Given the description of an element on the screen output the (x, y) to click on. 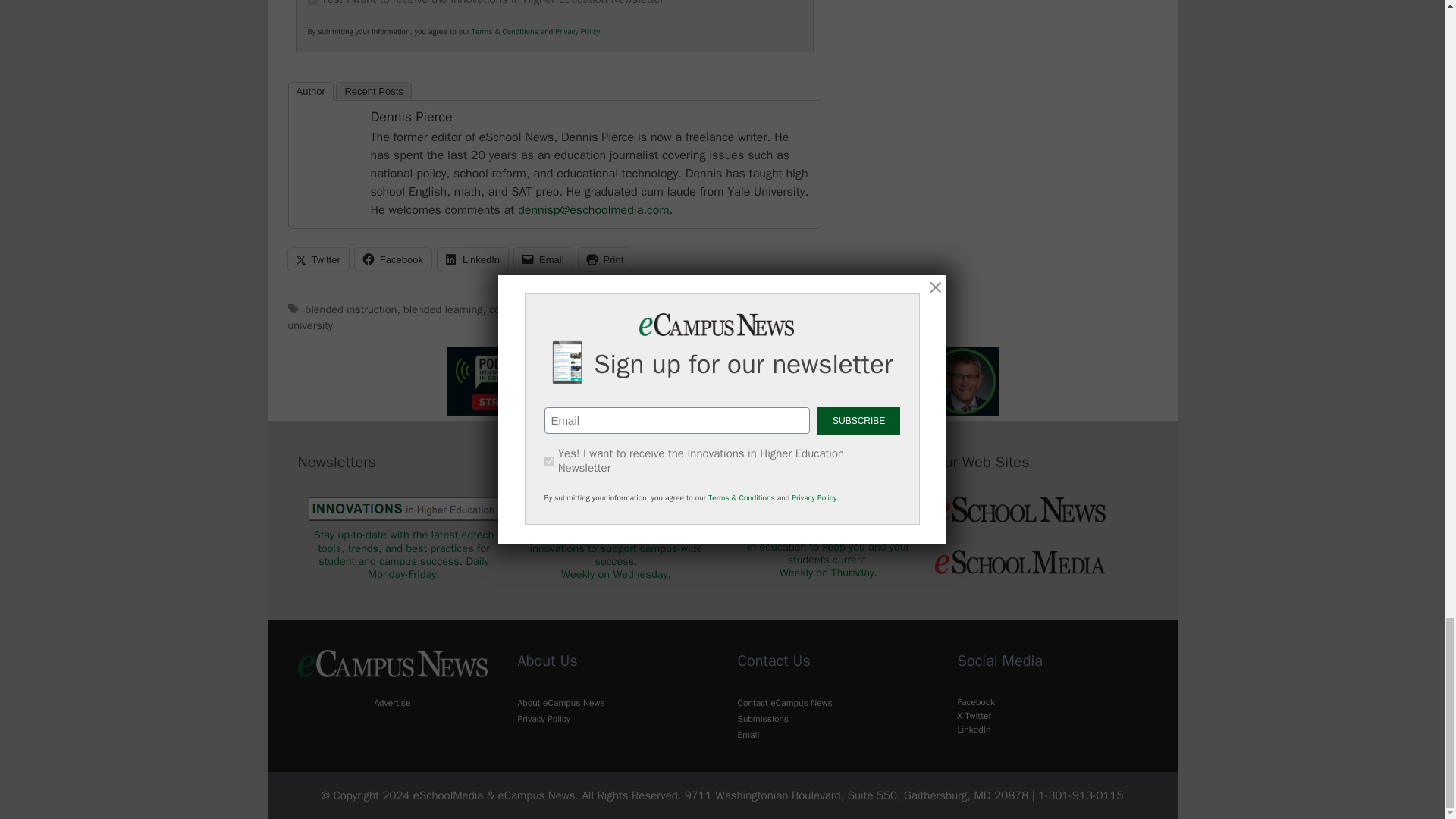
200 (312, 2)
